Given the description of an element on the screen output the (x, y) to click on. 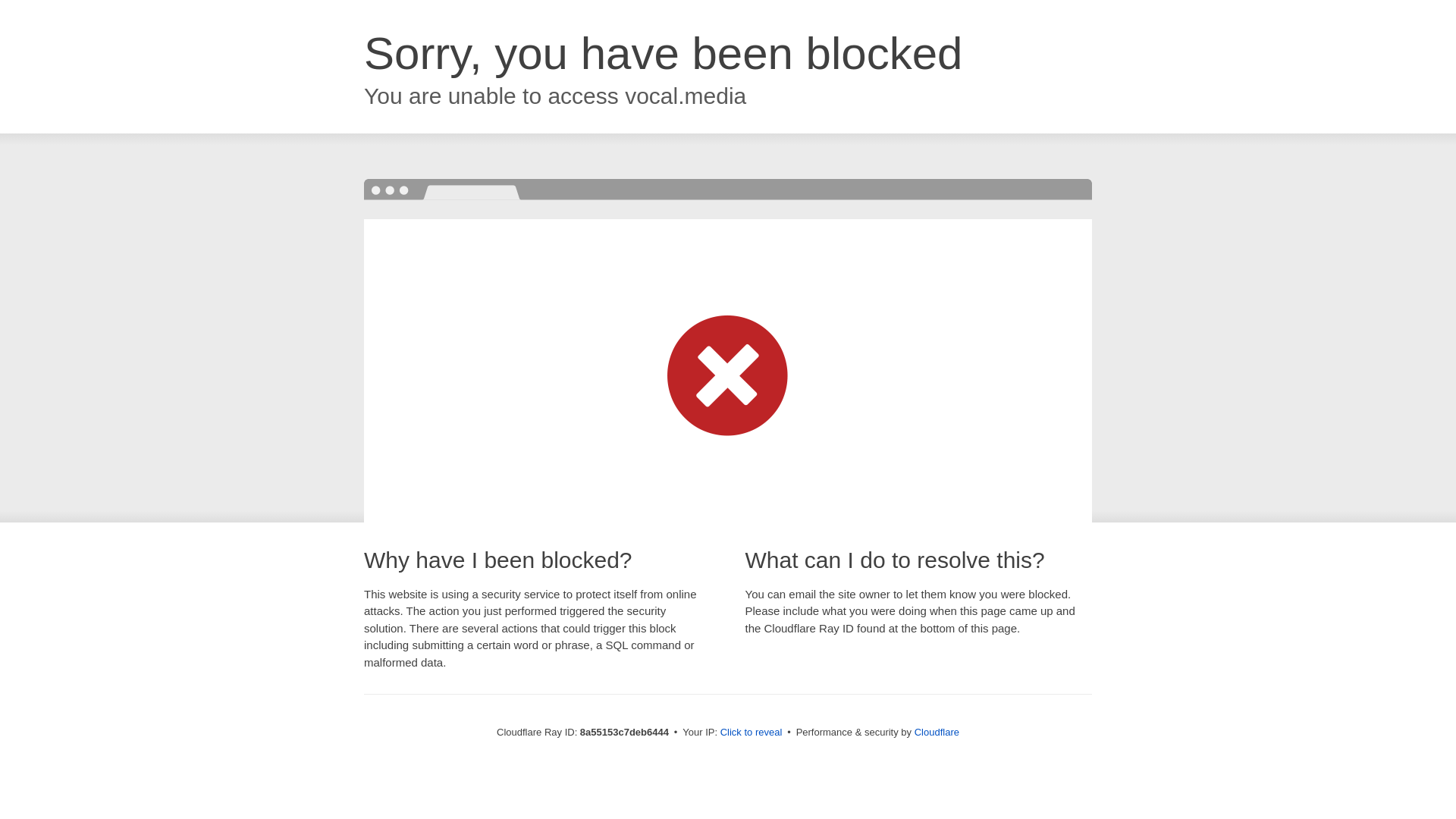
Click to reveal (751, 732)
Cloudflare (936, 731)
